Given the description of an element on the screen output the (x, y) to click on. 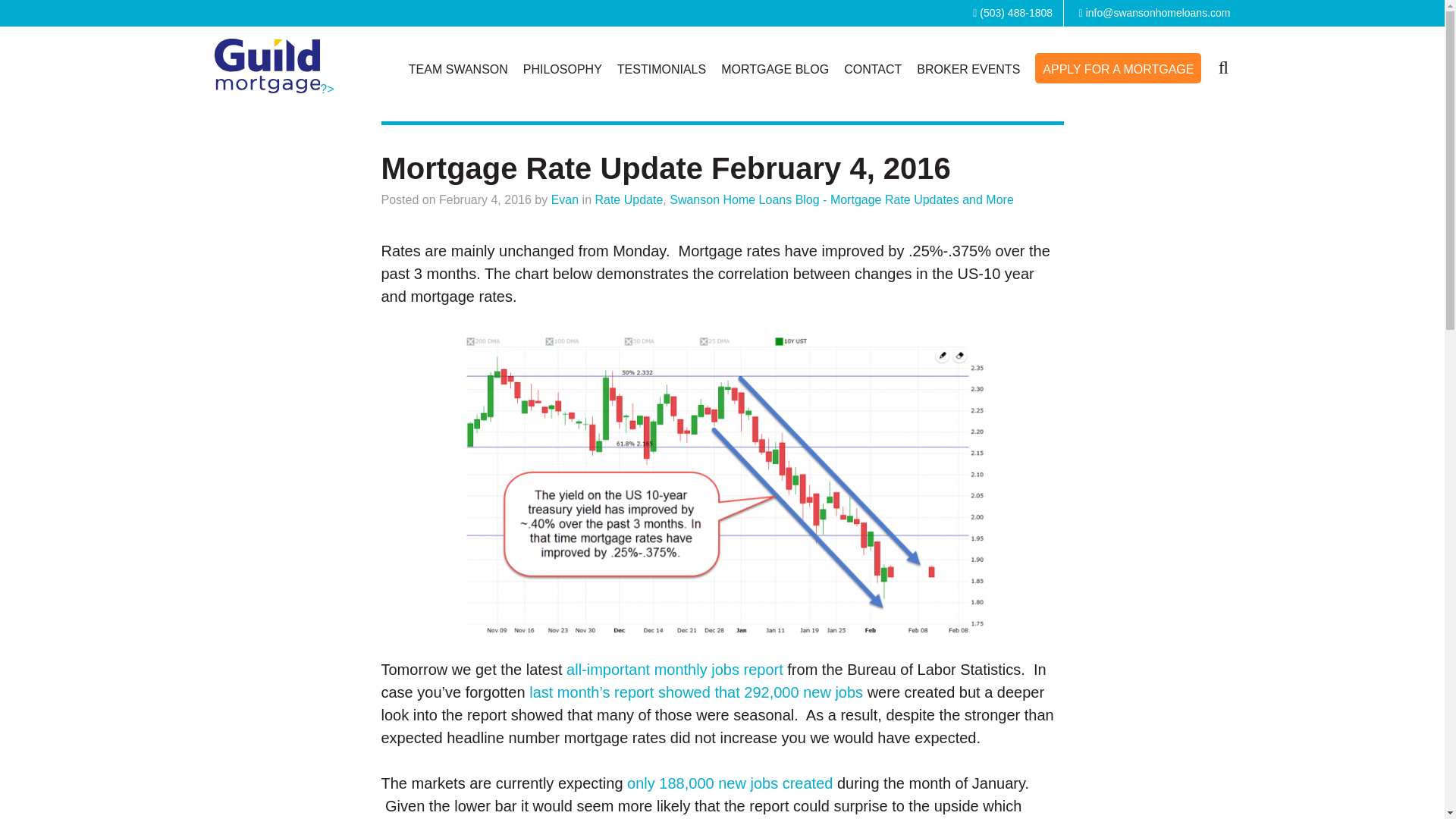
TESTIMONIALS (661, 70)
all-important monthly jobs report (674, 669)
CONTACT (872, 70)
only 188,000 new jobs created (729, 782)
MORTGAGE BLOG (774, 70)
APPLY FOR A MORTGAGE (1117, 69)
Swanson Home Loans Blog - Mortgage Rate Updates and More (841, 199)
PHILOSOPHY (562, 70)
BROKER EVENTS (968, 70)
Rate Update (628, 199)
TEAM SWANSON (458, 70)
Evan (564, 199)
Search (1222, 65)
